Given the description of an element on the screen output the (x, y) to click on. 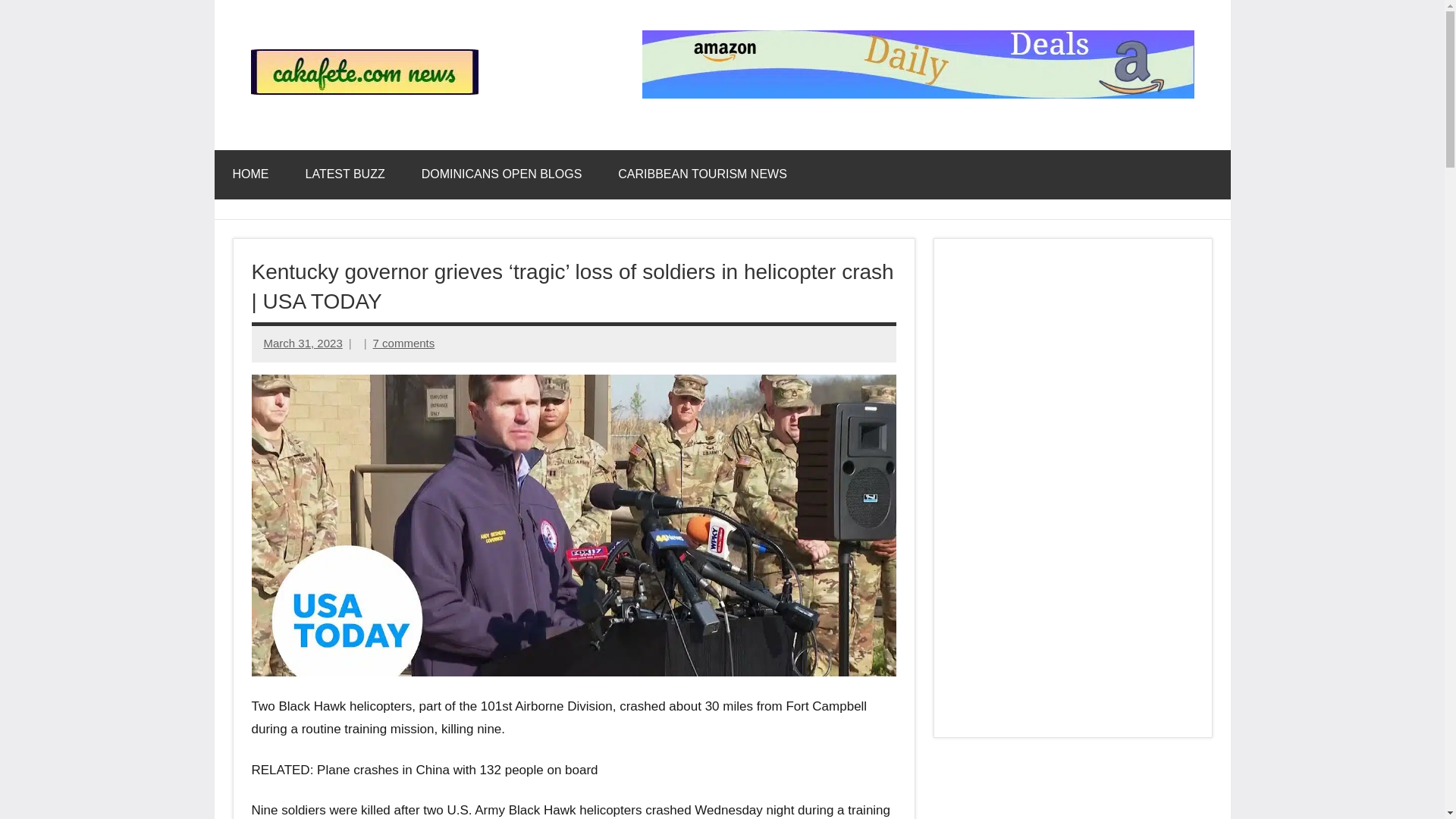
DOMINICANS OPEN BLOGS (501, 174)
LATEST BUZZ (344, 174)
7 comments (403, 342)
CARIBBEAN TOURISM NEWS (702, 174)
Toggle search form (1205, 174)
HOME (250, 174)
March 31, 2023 (302, 342)
Advertisement (1072, 787)
